Given the description of an element on the screen output the (x, y) to click on. 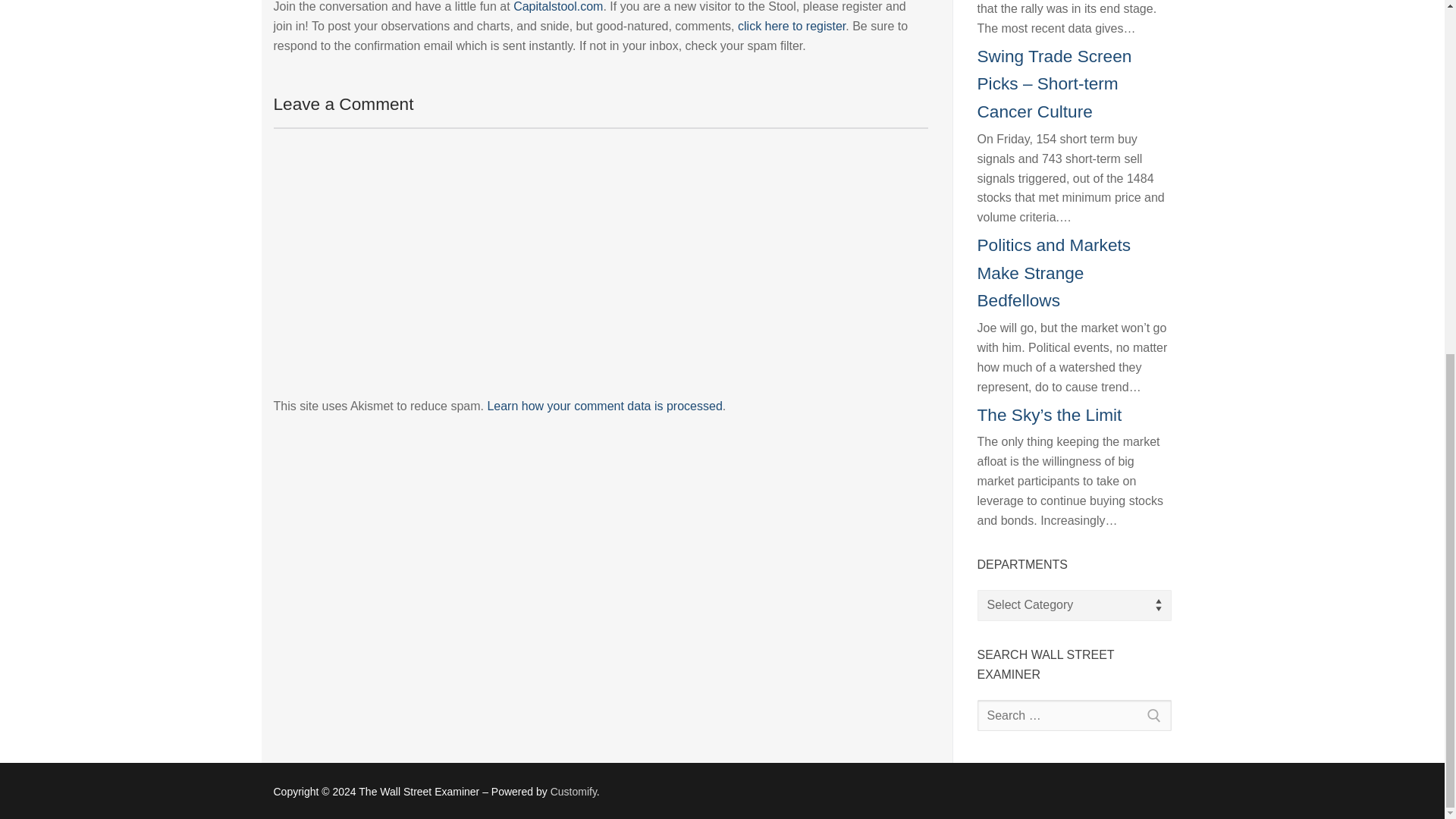
Capitalstool.com (557, 6)
click here to register (791, 25)
Search for: (1073, 716)
Learn how your comment data is processed (604, 405)
